Given the description of an element on the screen output the (x, y) to click on. 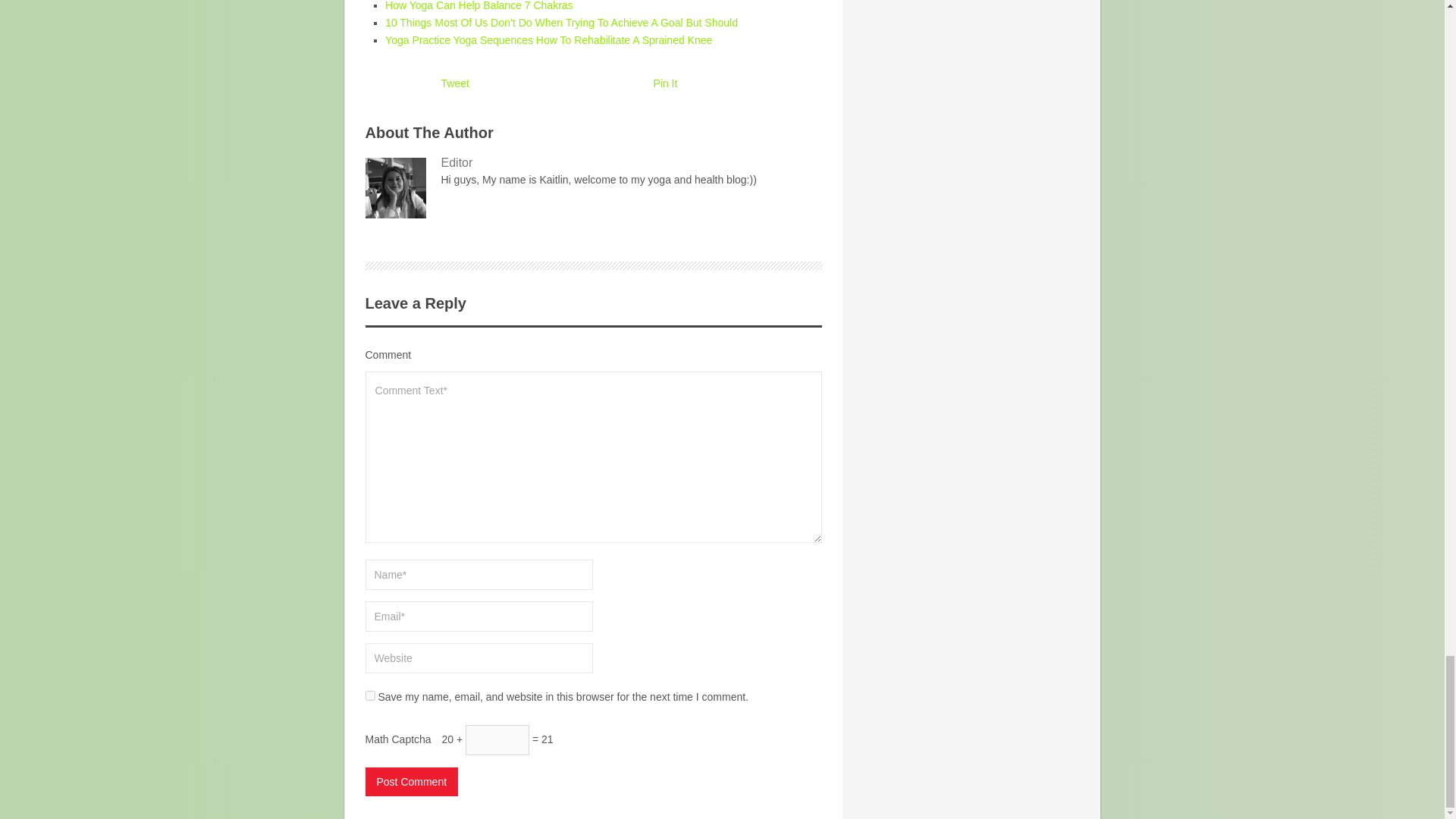
Post Comment (411, 781)
Editor (593, 162)
Post Comment (411, 781)
yes (370, 696)
Pin It (665, 82)
How Yoga Can Help Balance 7 Chakras (479, 5)
How Yoga Can Help Balance 7 Chakras (479, 5)
Tweet (454, 82)
